Given the description of an element on the screen output the (x, y) to click on. 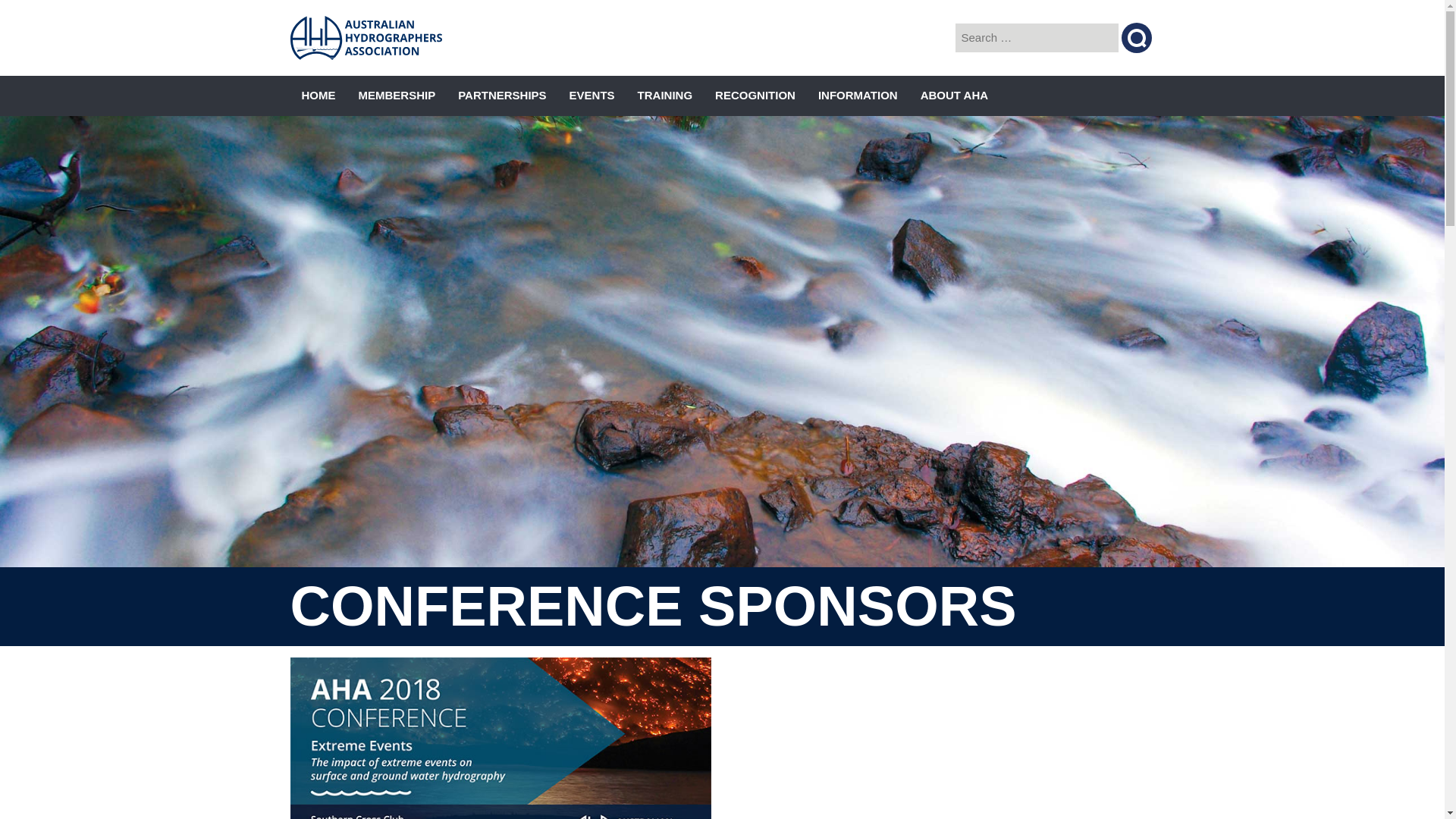
MEMBERSHIP Element type: text (397, 95)
PARTNERSHIPS Element type: text (501, 95)
HOME Element type: text (317, 95)
TRAINING Element type: text (665, 95)
INFORMATION Element type: text (857, 95)
EVENTS Element type: text (592, 95)
Search Element type: text (1136, 37)
ABOUT AHA Element type: text (954, 95)
RECOGNITION Element type: text (754, 95)
